Given the description of an element on the screen output the (x, y) to click on. 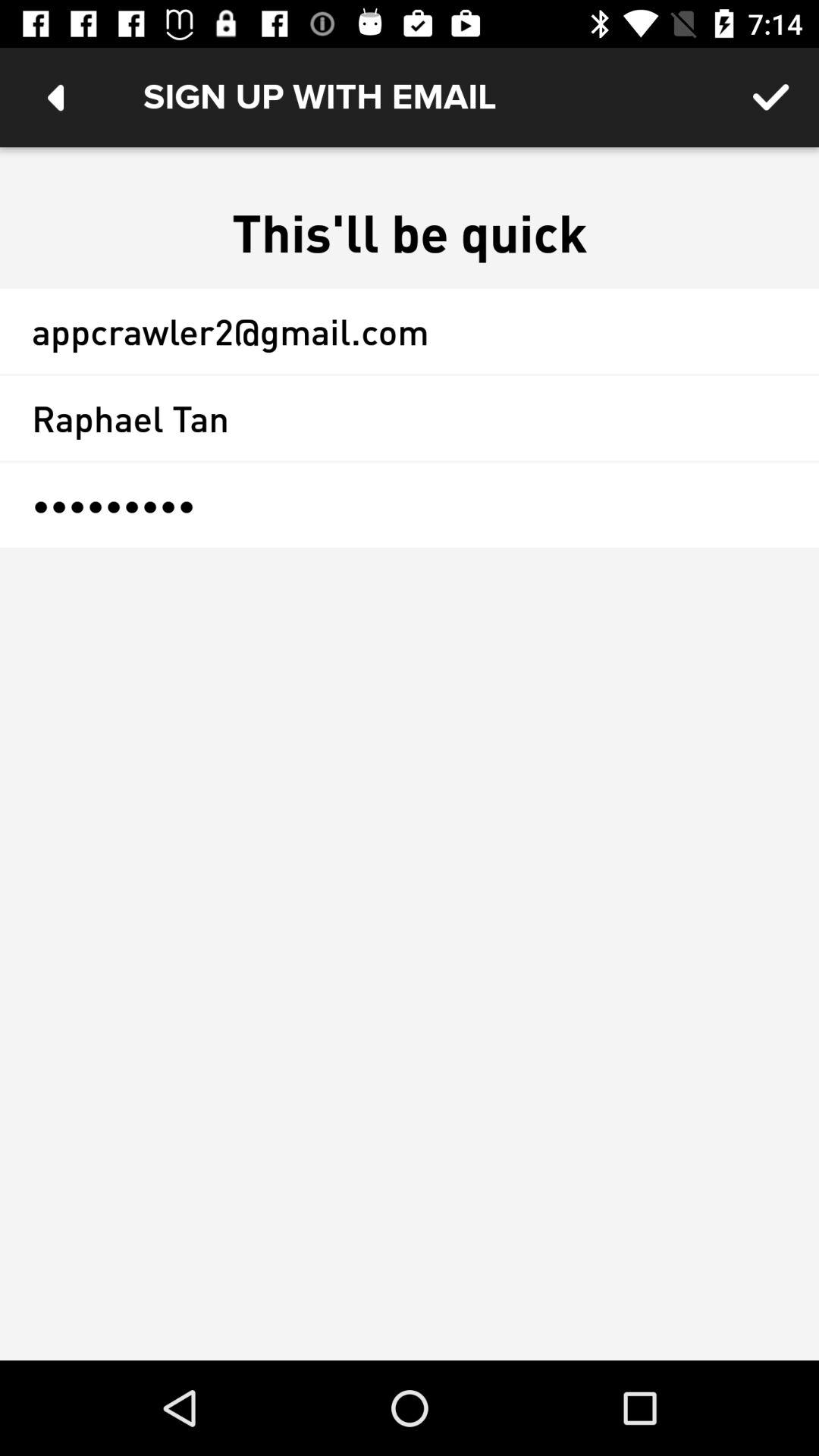
click the icon above the this ll be icon (55, 97)
